Given the description of an element on the screen output the (x, y) to click on. 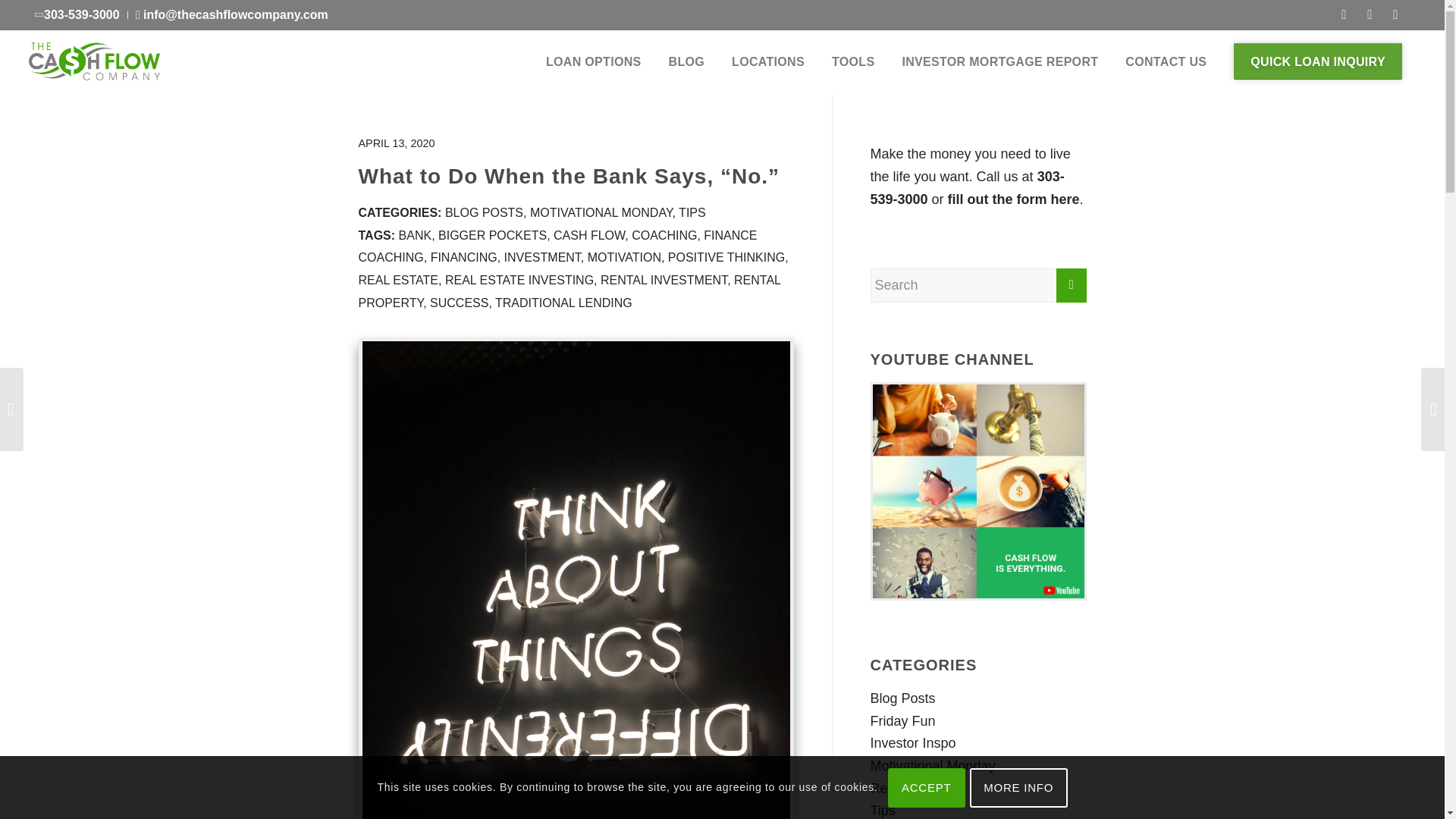
The Cash Flow Company (94, 61)
Youtube (1395, 15)
BLOG (687, 61)
Facebook (1343, 15)
Instagram (1369, 15)
303-539-3000 (77, 14)
LOAN OPTIONS (593, 61)
LOCATIONS (767, 61)
